Given the description of an element on the screen output the (x, y) to click on. 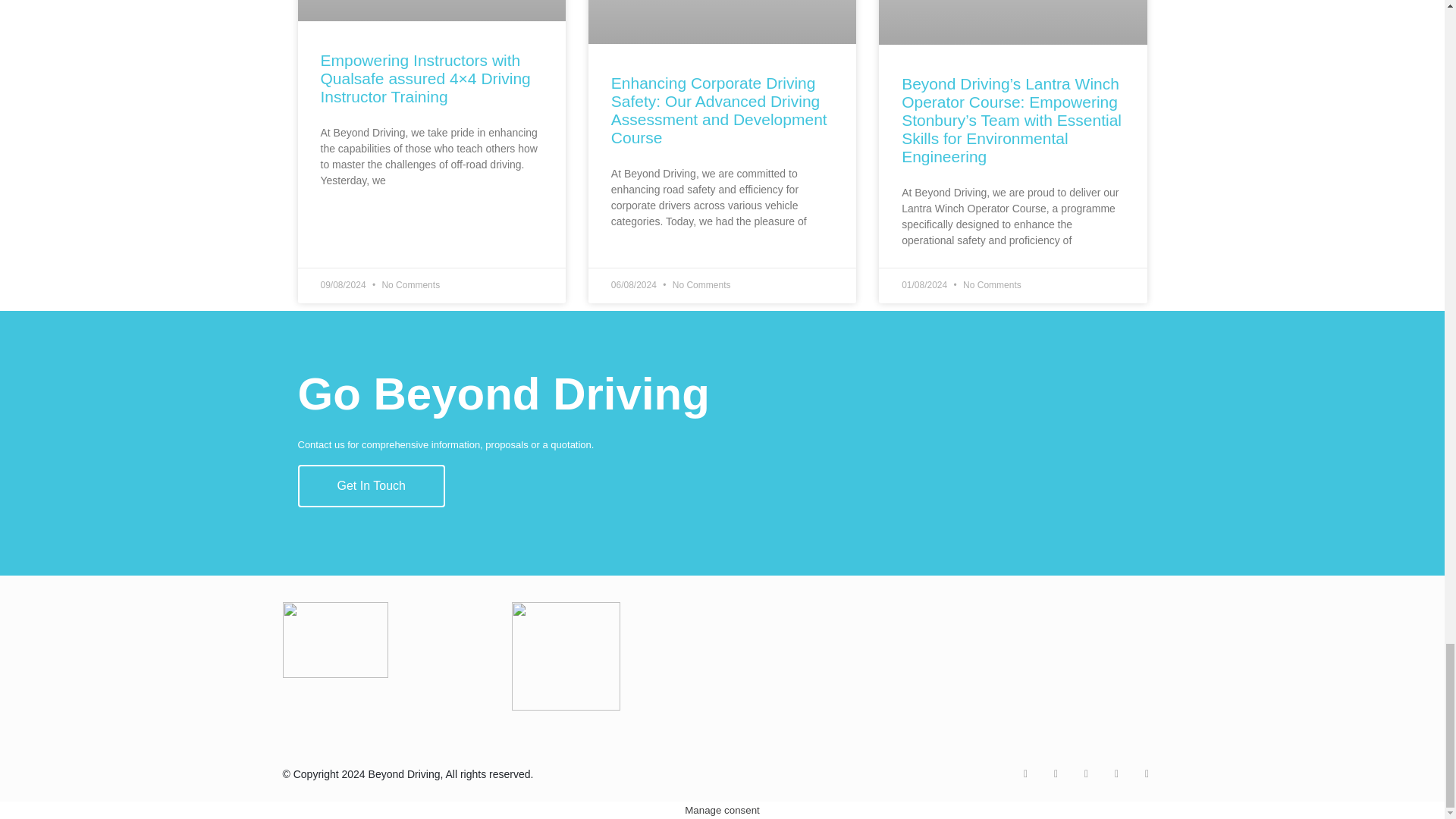
 RSS (1146, 774)
 Follow on Facebook (1055, 774)
 Follow on Twitter (1025, 774)
 Follow on Instagram (1085, 774)
